Given the description of an element on the screen output the (x, y) to click on. 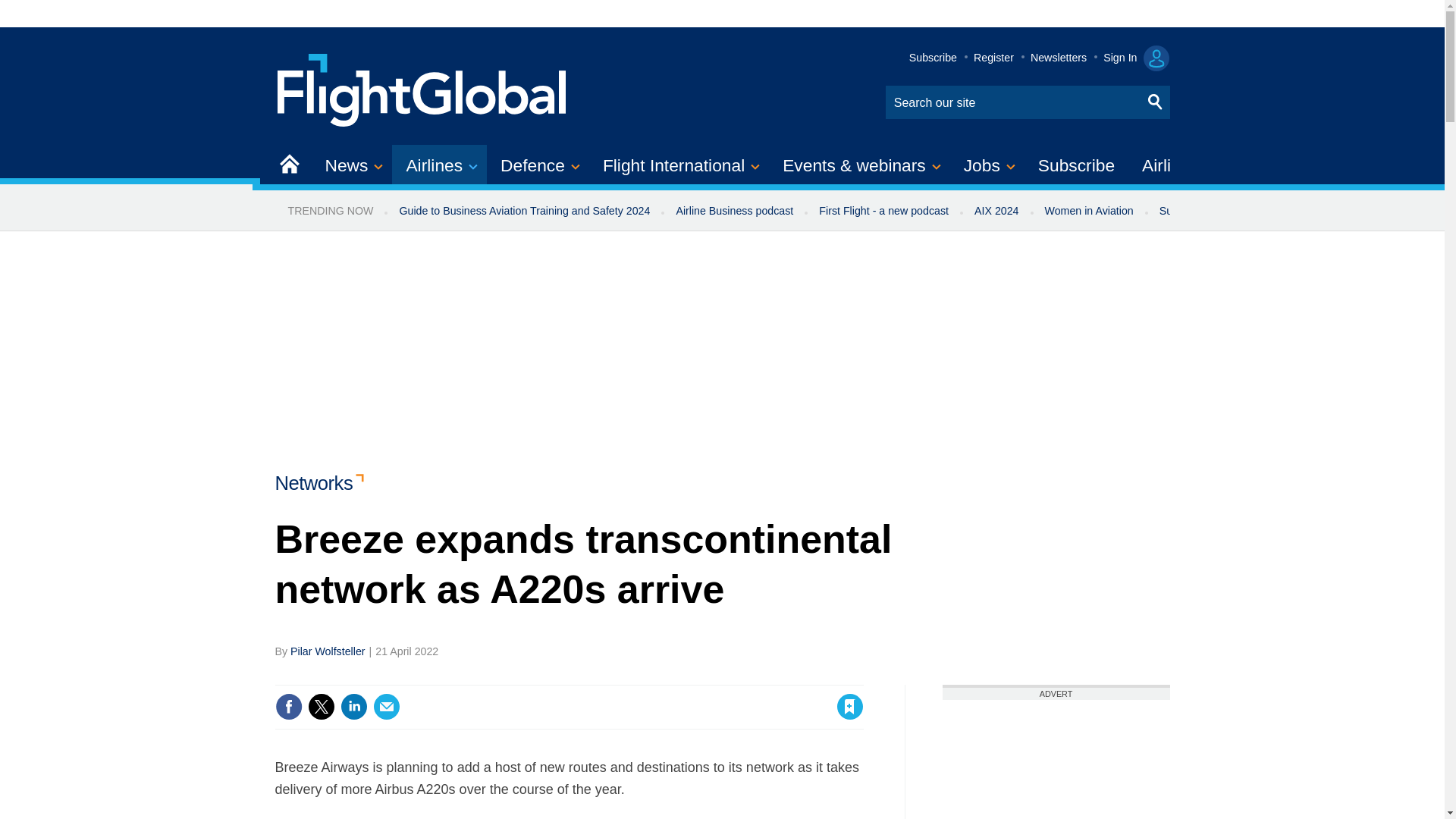
Share this on Twitter (320, 706)
3rd party ad content (1055, 759)
Guide to Business Aviation Training and Safety 2024 (523, 210)
Sustainable Aviation newsletter (1234, 210)
Airline Business podcast (734, 210)
First Flight - a new podcast (883, 210)
Site name (422, 88)
Share this on Linked in (352, 706)
Email this article (386, 706)
Women in Aviation (1089, 210)
AIX 2024 (996, 210)
Share this on Facebook (288, 706)
